Given the description of an element on the screen output the (x, y) to click on. 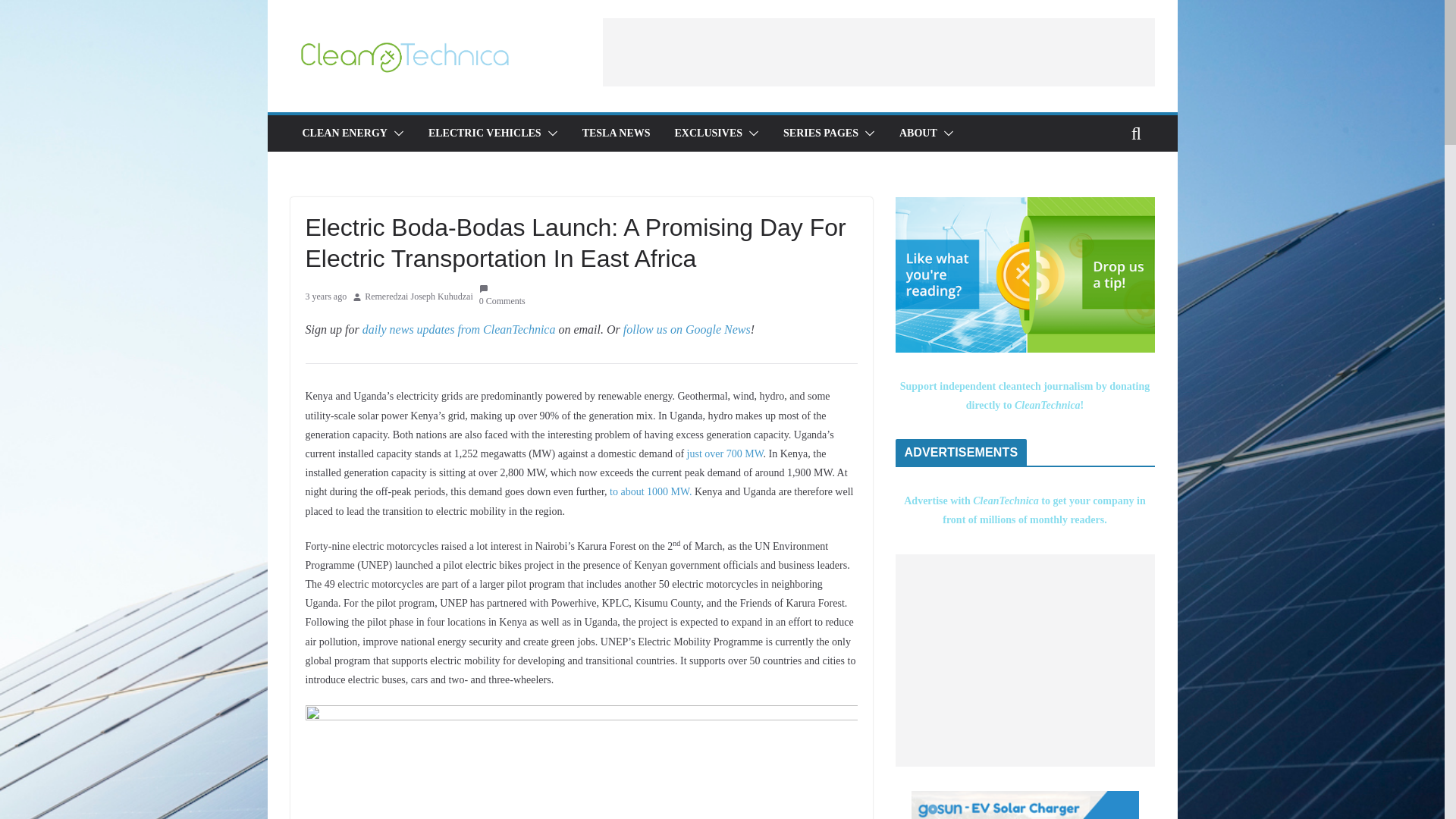
Remeredzai Joseph Kuhudzai (419, 297)
CLEAN ENERGY (344, 133)
SERIES PAGES (821, 133)
Advertisement (1025, 660)
Advertisement (878, 52)
ELECTRIC VEHICLES (484, 133)
TESLA NEWS (616, 133)
EXCLUSIVES (708, 133)
